Given the description of an element on the screen output the (x, y) to click on. 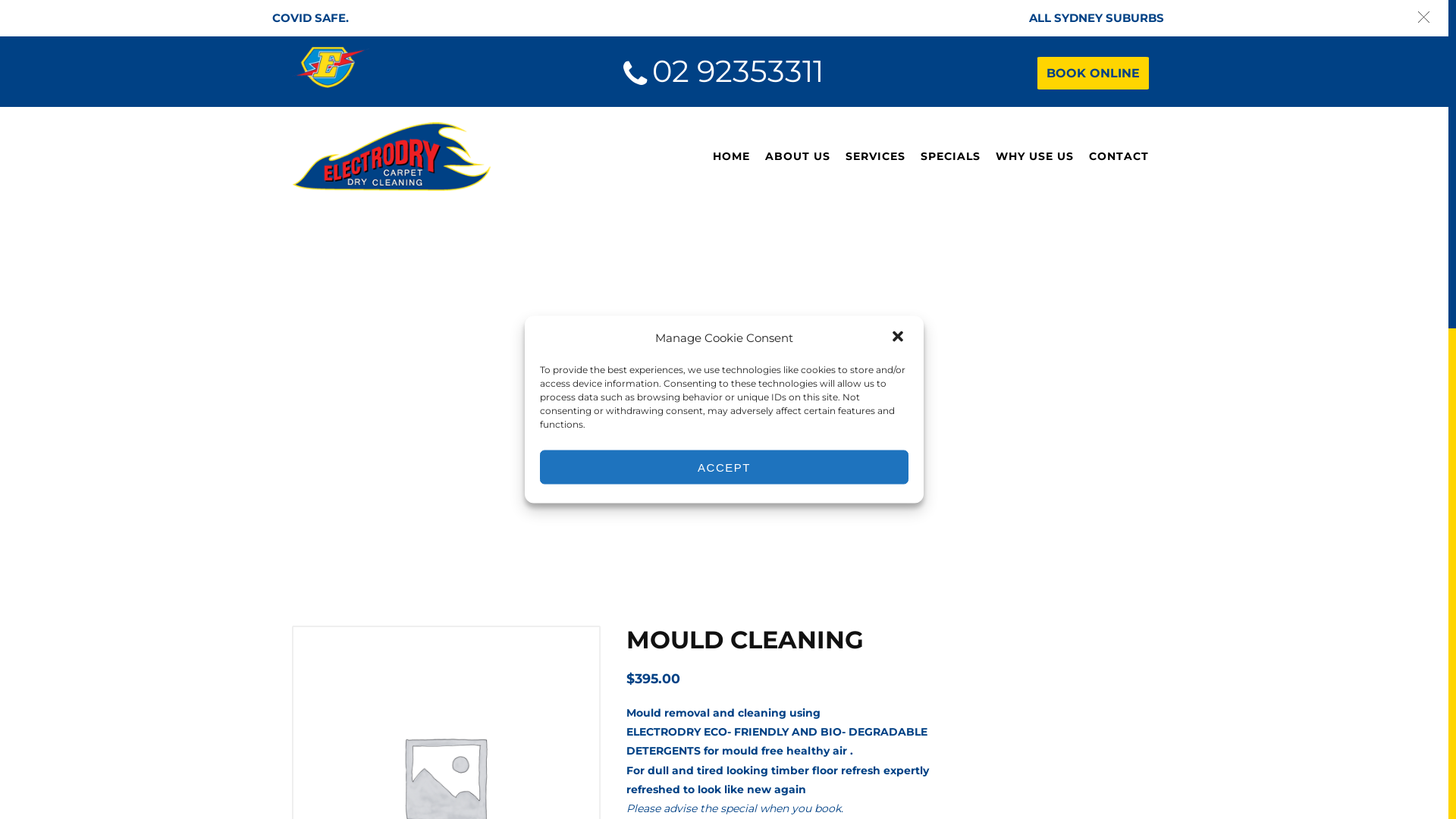
Products Element type: text (707, 408)
CONTACT Element type: text (1118, 156)
HOME Element type: text (730, 156)
SERVICES Element type: text (875, 156)
WHY USE US Element type: text (1034, 156)
ACCEPT Element type: text (723, 467)
Home Element type: text (647, 408)
ABOUT US Element type: text (797, 156)
SPECIALS Element type: text (950, 156)
02 92353311 Element type: text (741, 70)
BOOK ONLINE Element type: text (1092, 72)
offre Element type: text (761, 408)
